Given the description of an element on the screen output the (x, y) to click on. 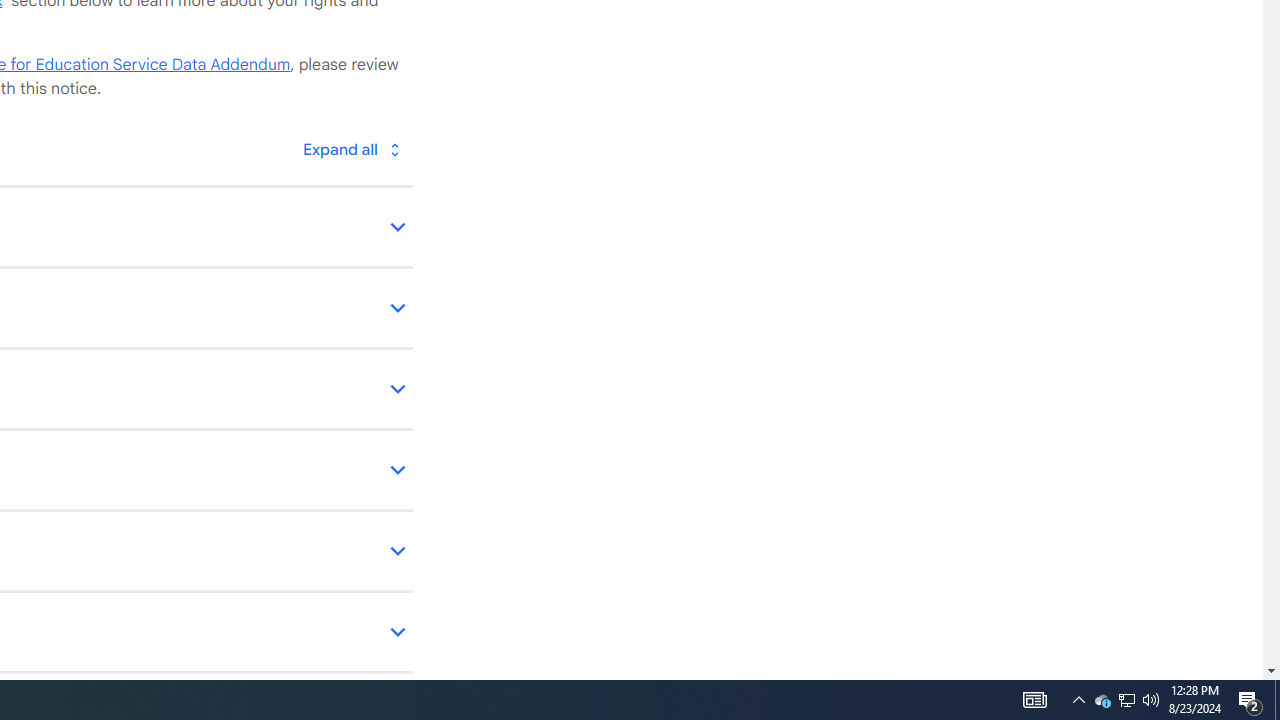
Toggle all (351, 148)
